Given the description of an element on the screen output the (x, y) to click on. 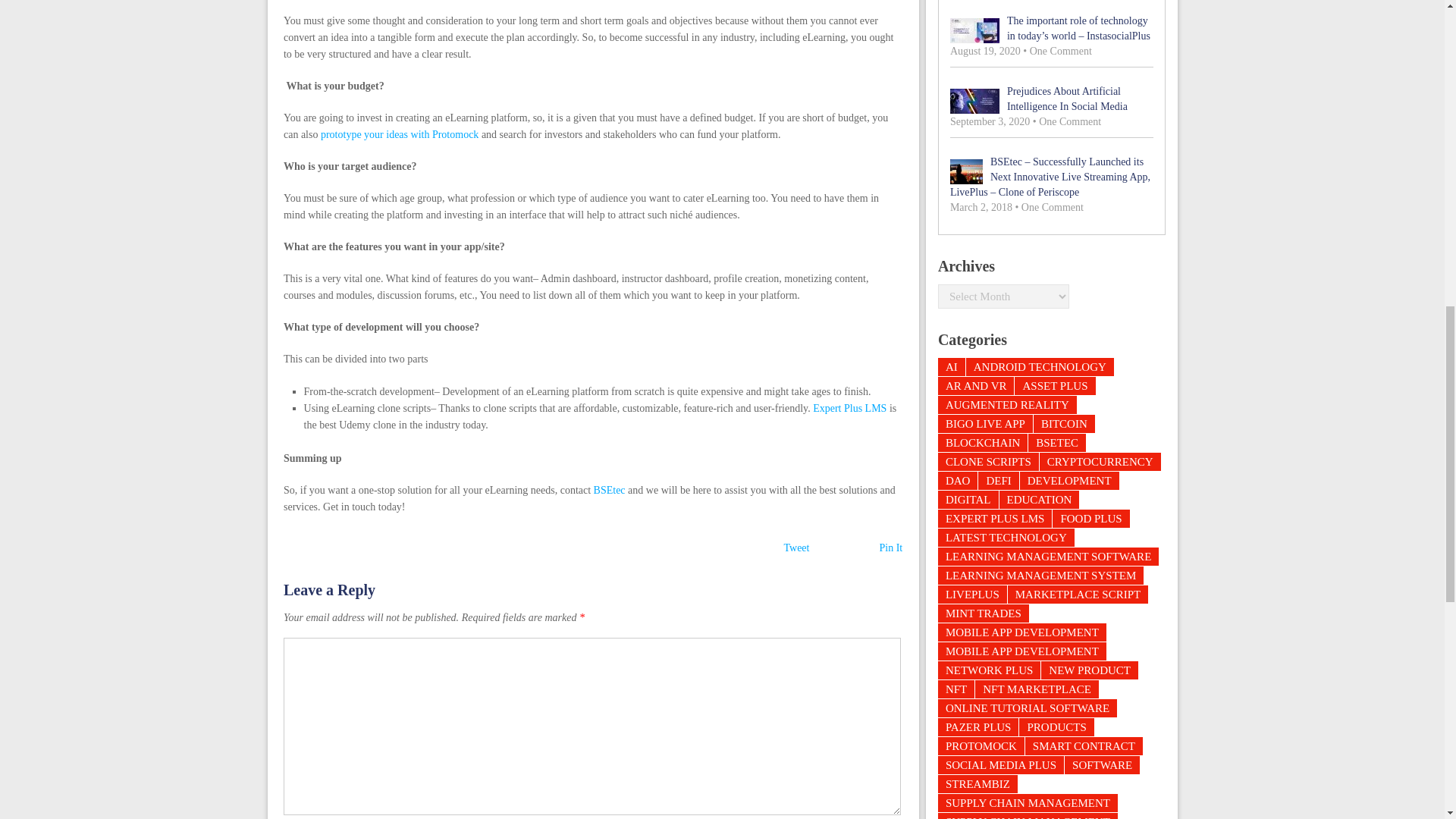
Prejudices About Artificial Intelligence In Social Media (1051, 99)
